Given the description of an element on the screen output the (x, y) to click on. 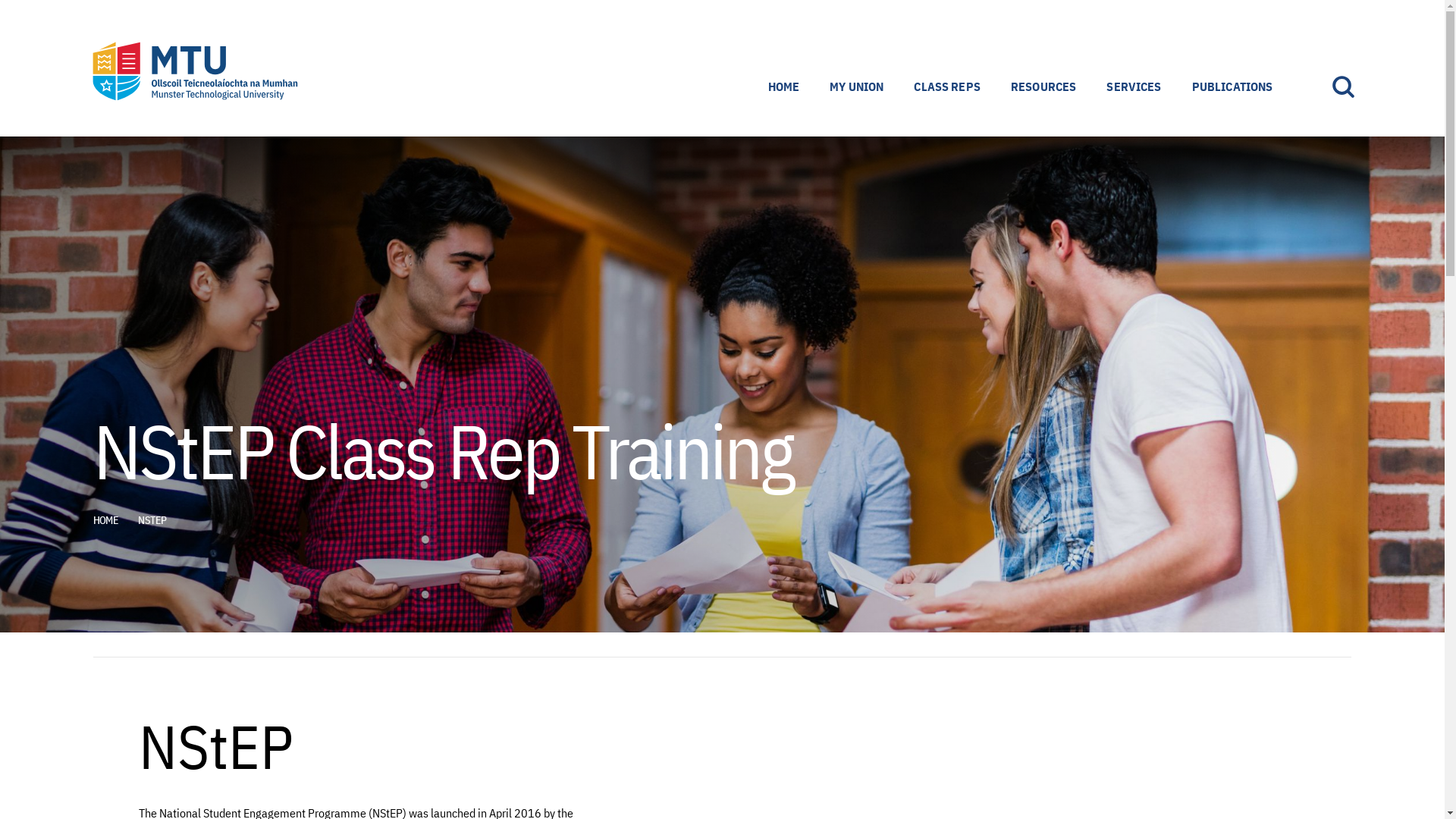
HOME (783, 86)
RESOURCES (1042, 86)
Go to Home. (110, 520)
MY UNION (855, 86)
CLASS REPS (946, 86)
